Given the description of an element on the screen output the (x, y) to click on. 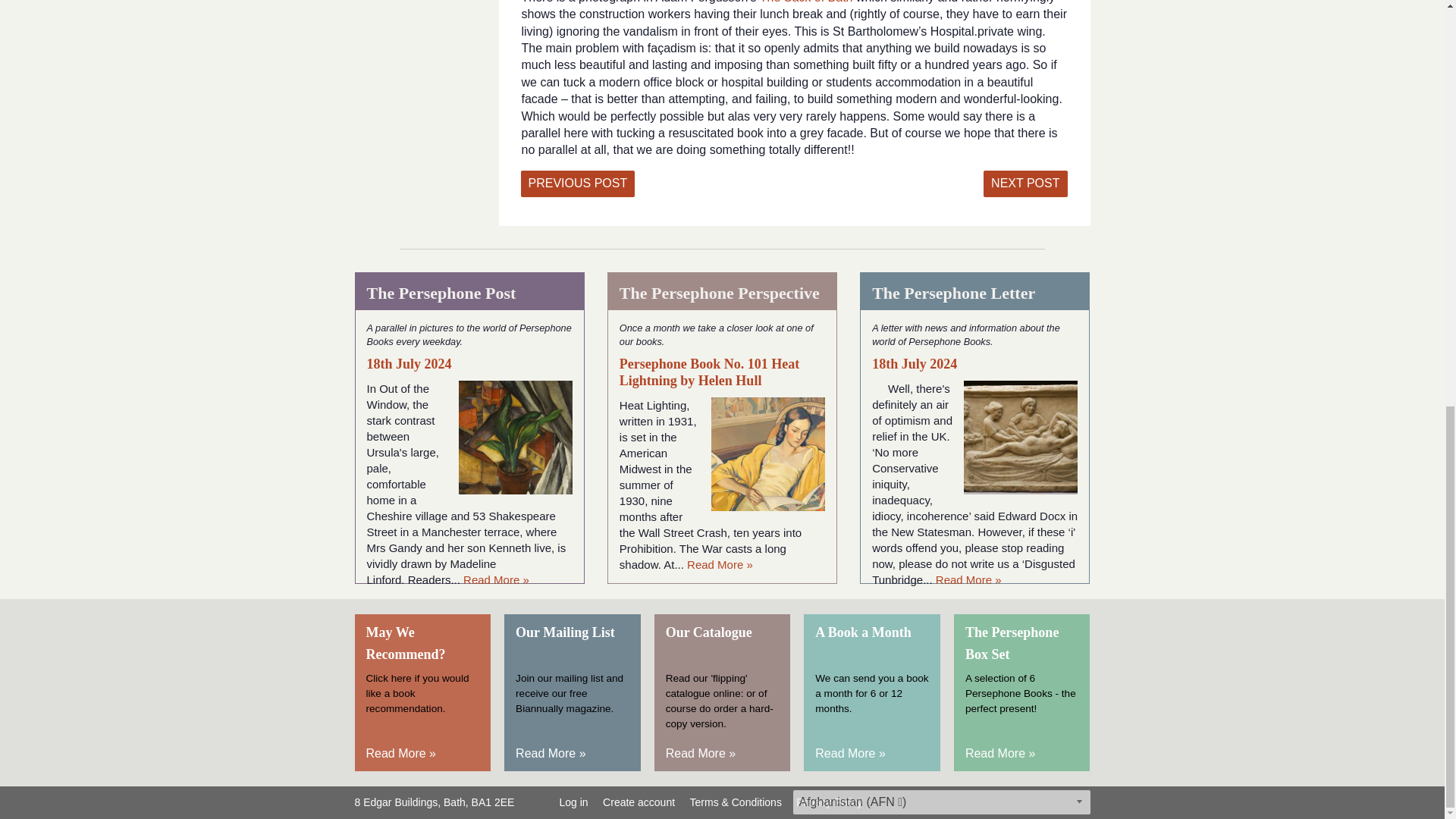
24 February 2020 (1025, 183)
20 February (576, 183)
